Given the description of an element on the screen output the (x, y) to click on. 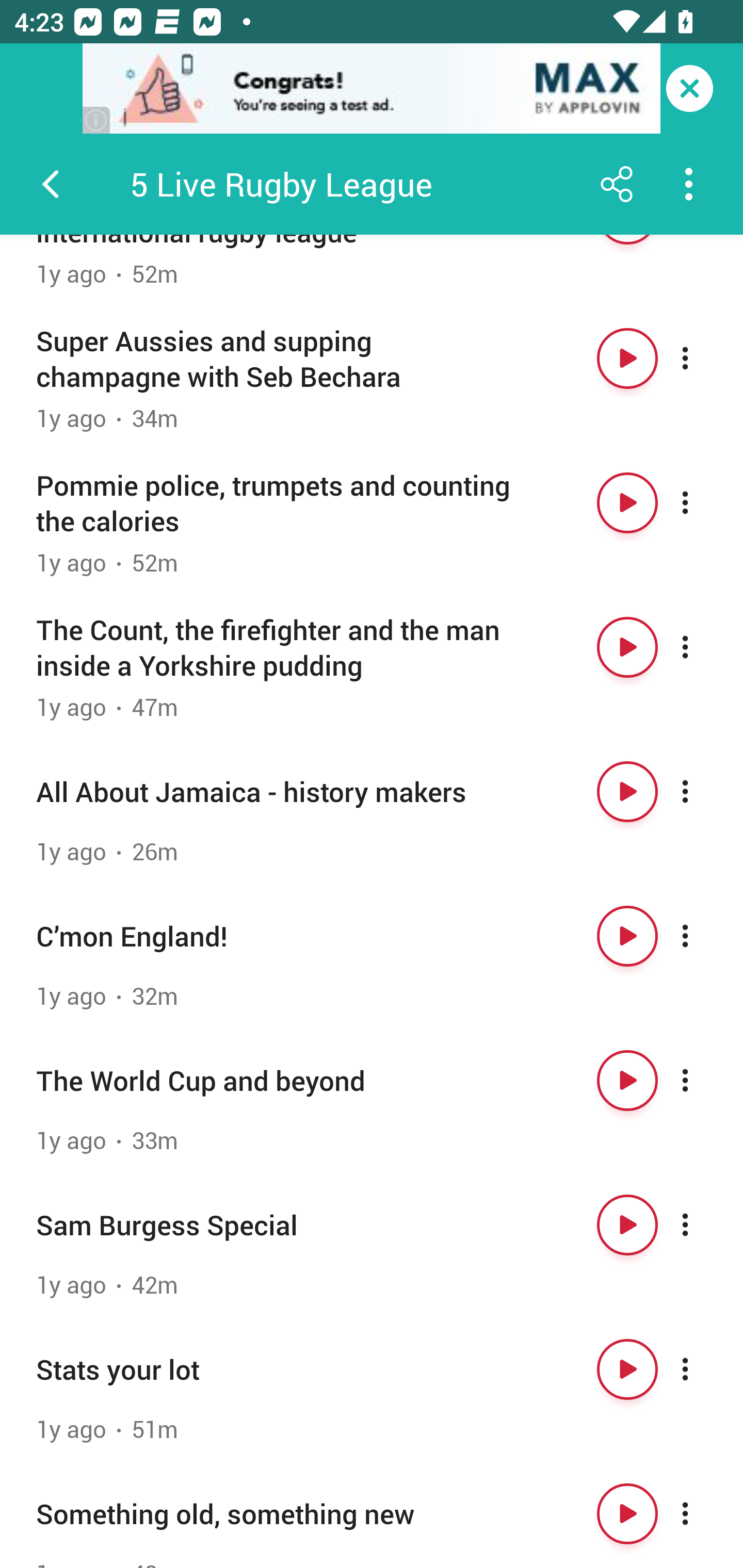
app-monetization (371, 88)
(i) (96, 119)
Back (50, 184)
Play button (627, 358)
More options (703, 358)
Play button (627, 502)
More options (703, 502)
Play button (627, 647)
More options (703, 647)
Play button (627, 791)
More options (703, 791)
Play button (627, 935)
More options (703, 935)
Play button (627, 1080)
More options (703, 1080)
Play button (627, 1225)
More options (703, 1225)
Play button (627, 1369)
More options (703, 1369)
Play button (627, 1513)
More options (703, 1513)
